Given the description of an element on the screen output the (x, y) to click on. 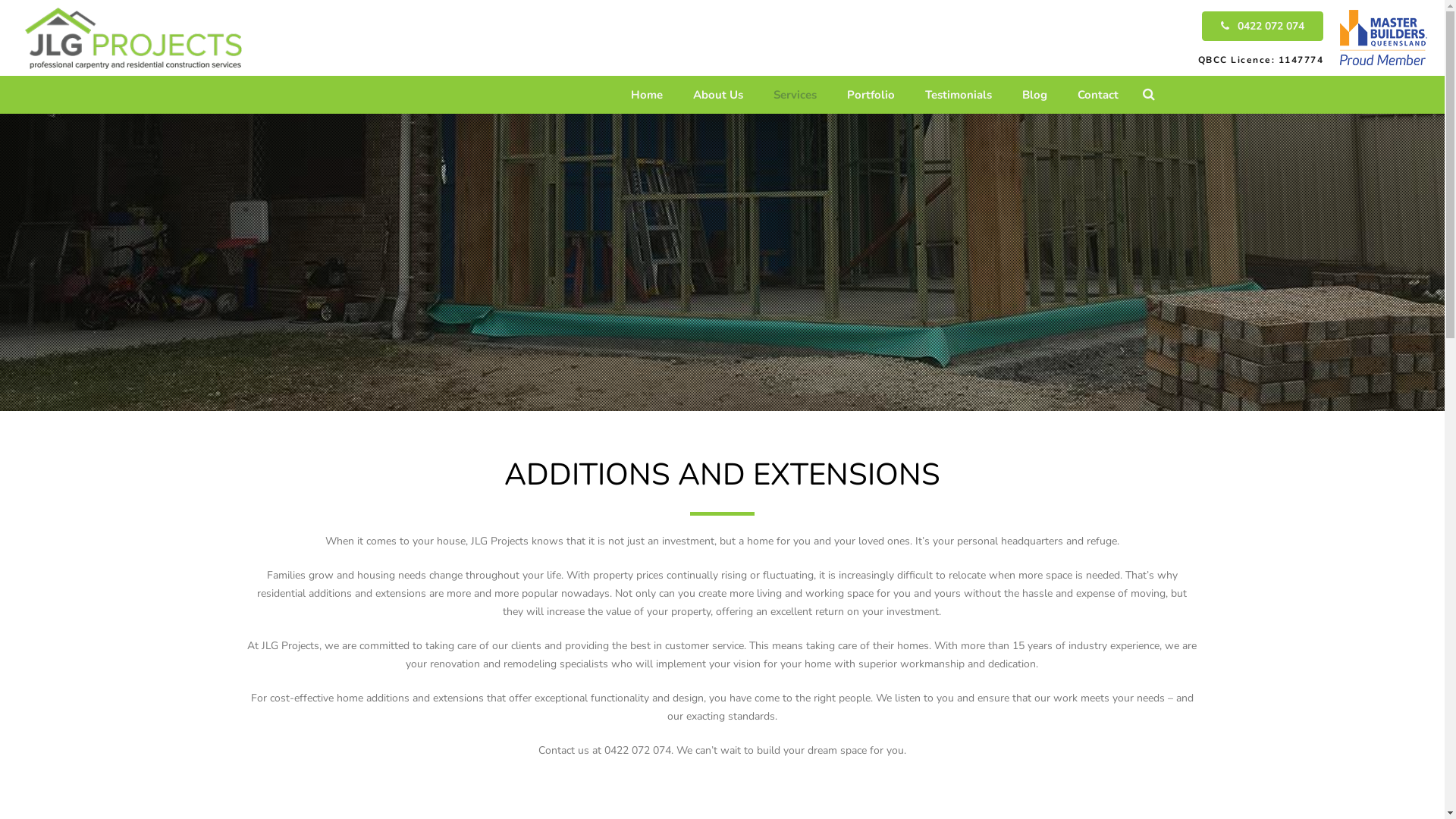
Services Element type: text (794, 93)
Home Element type: text (646, 93)
Contact Element type: text (1097, 93)
Blog Element type: text (1034, 93)
Portfolio Element type: text (870, 93)
About Us Element type: text (717, 93)
0422 072 074 Element type: text (1262, 25)
Testimonials Element type: text (958, 93)
